Given the description of an element on the screen output the (x, y) to click on. 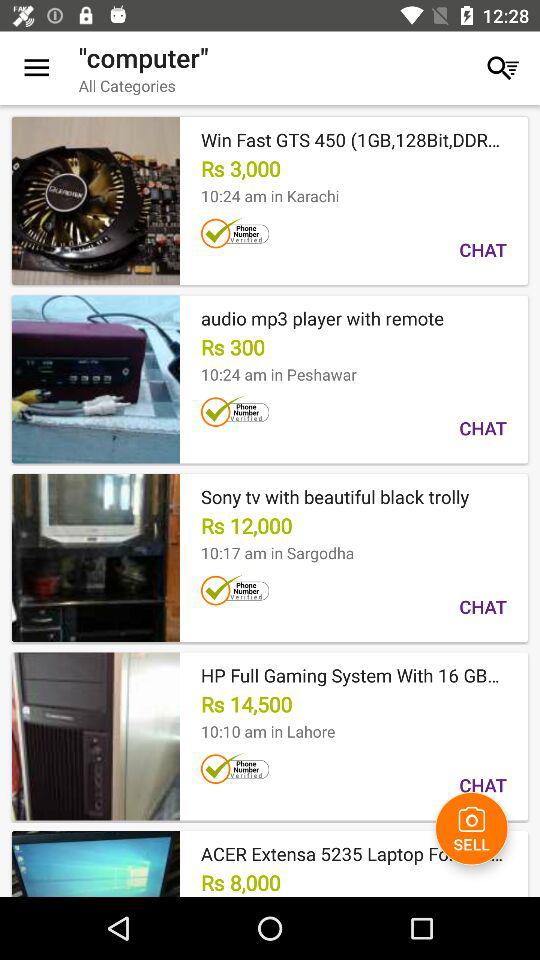
select the app to the right of "computer" app (503, 67)
